Given the description of an element on the screen output the (x, y) to click on. 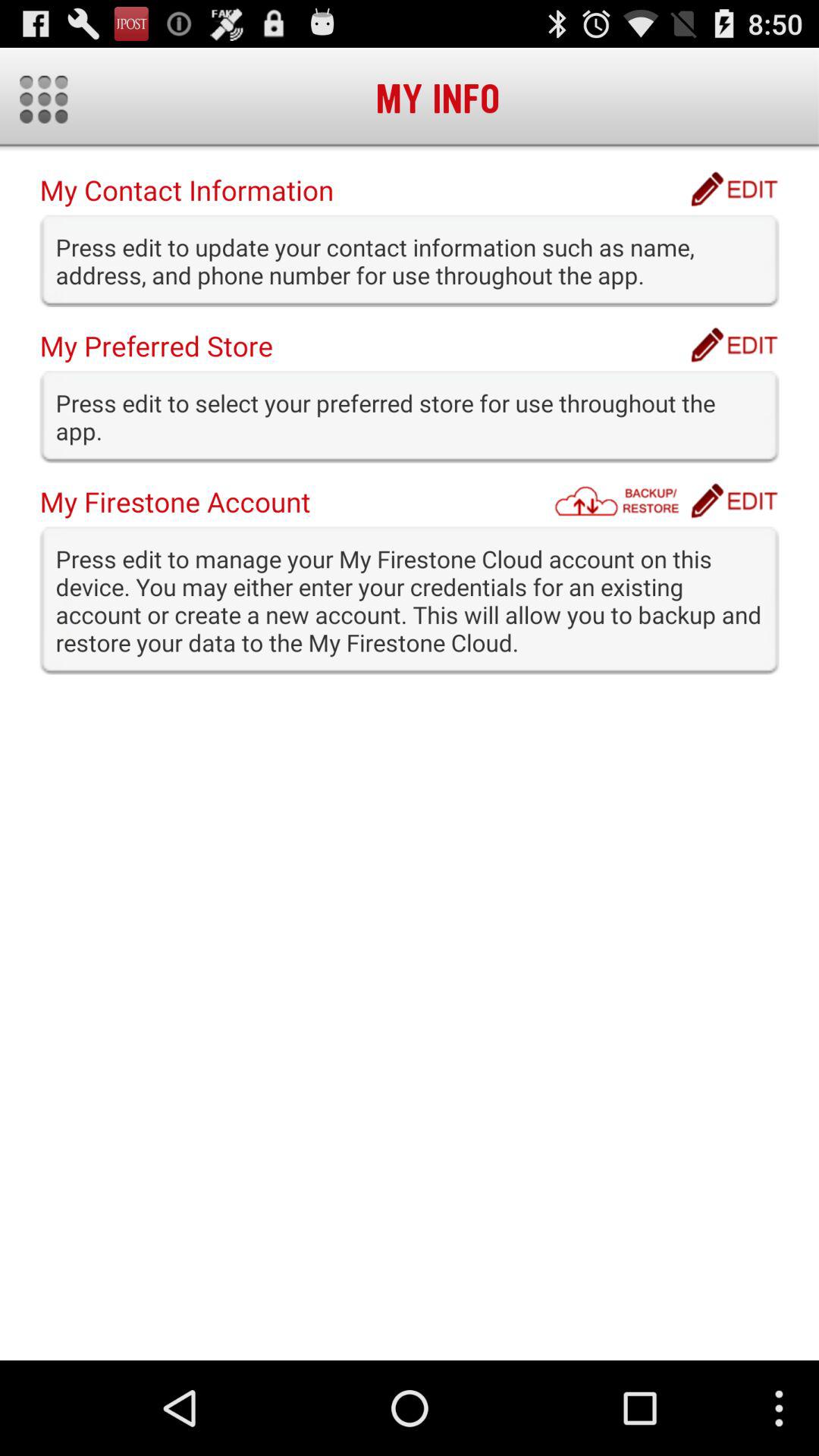
show main menu (43, 99)
